Given the description of an element on the screen output the (x, y) to click on. 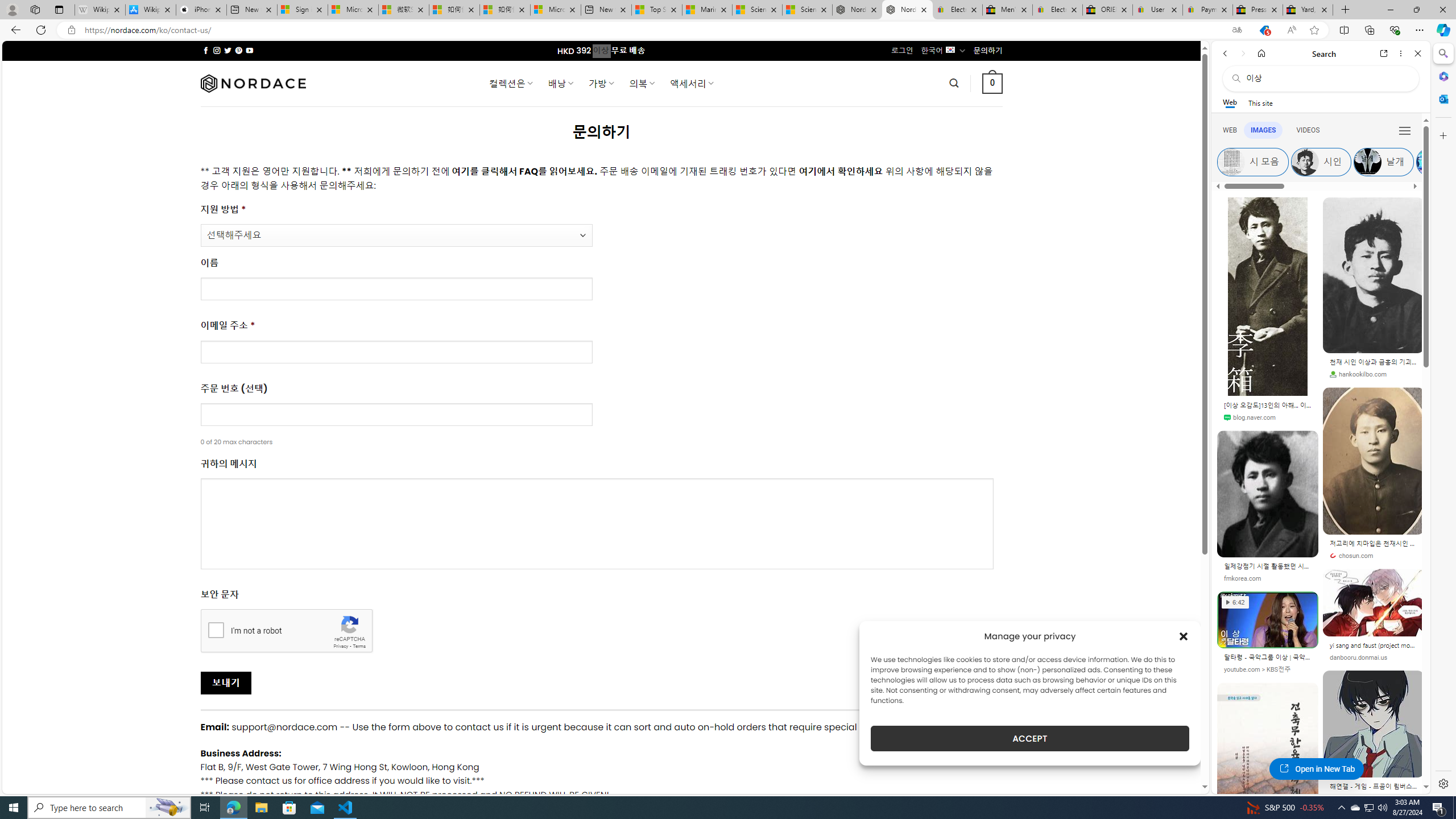
danbooru.donmai.us (1372, 657)
